Given the description of an element on the screen output the (x, y) to click on. 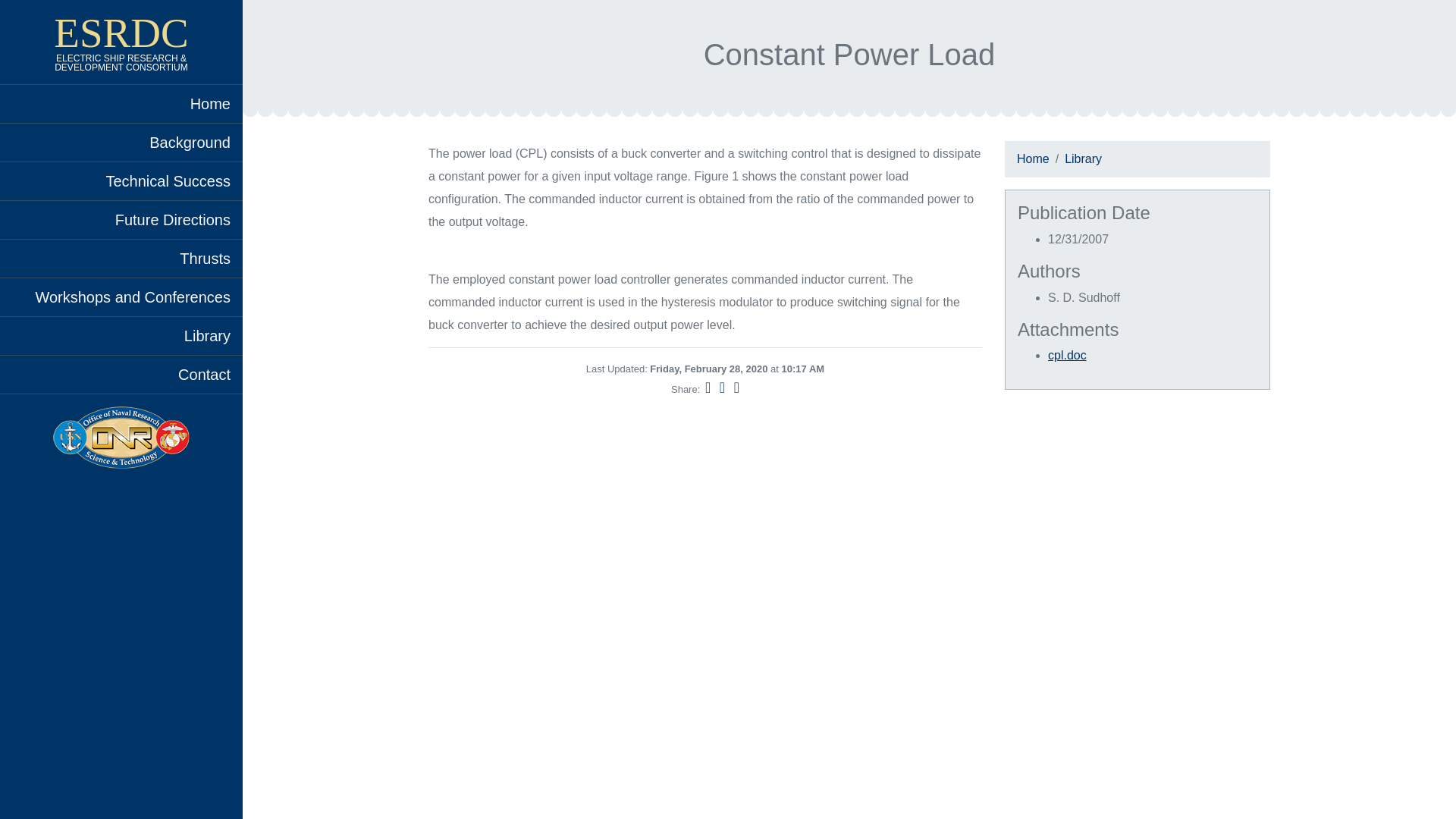
Library (121, 335)
cpl.doc (1067, 354)
cpl.doc (1067, 354)
Home (1032, 158)
Future Directions (121, 219)
Library (1083, 158)
Workshops and Conferences (121, 297)
Contact (121, 374)
United States Office of Naval Research (120, 437)
Background (121, 142)
Thrusts (121, 258)
Home (121, 103)
Technical Success (121, 180)
